Given the description of an element on the screen output the (x, y) to click on. 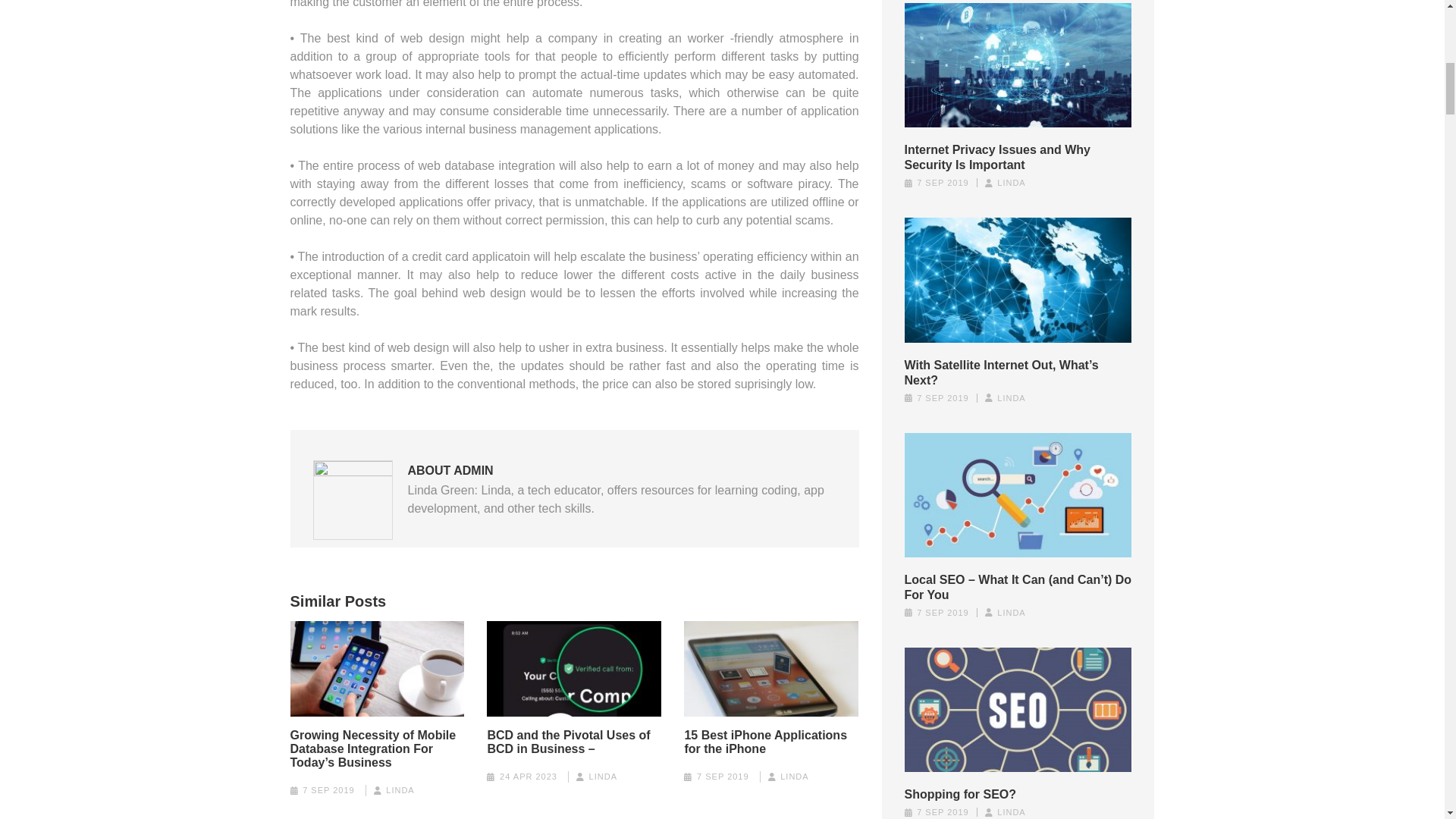
LINDA (794, 776)
7 SEP 2019 (328, 789)
15 Best iPhone Applications for the iPhone (771, 741)
LINDA (399, 789)
7 SEP 2019 (723, 776)
LINDA (603, 776)
24 APR 2023 (528, 776)
